Given the description of an element on the screen output the (x, y) to click on. 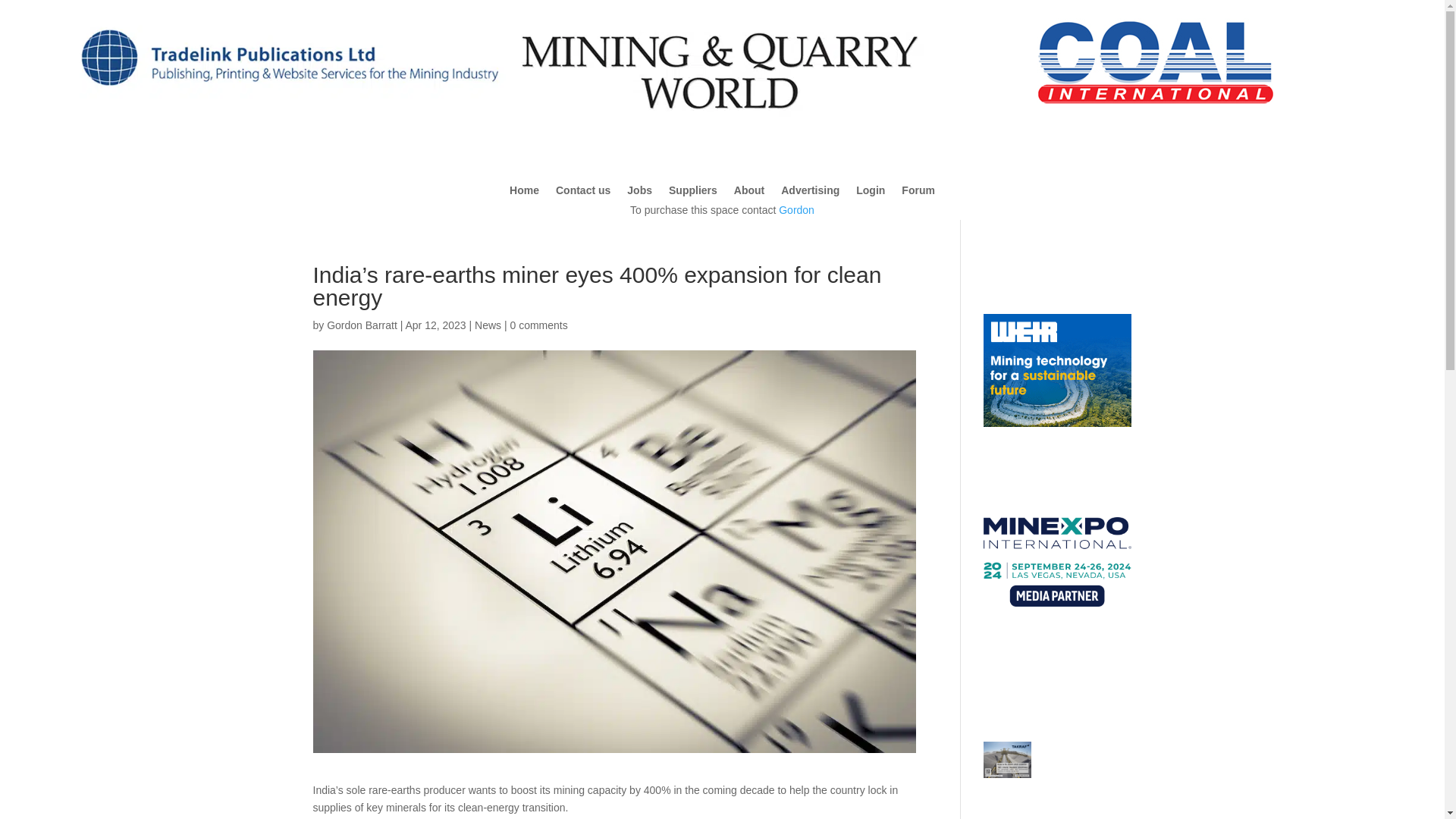
Posts by Gordon Barratt (361, 325)
Contact us (583, 193)
0 comments (538, 325)
Advertising (810, 193)
Forum (917, 193)
About (748, 193)
News (487, 325)
Jobs (639, 193)
Gordon (795, 209)
Login (870, 193)
